Given the description of an element on the screen output the (x, y) to click on. 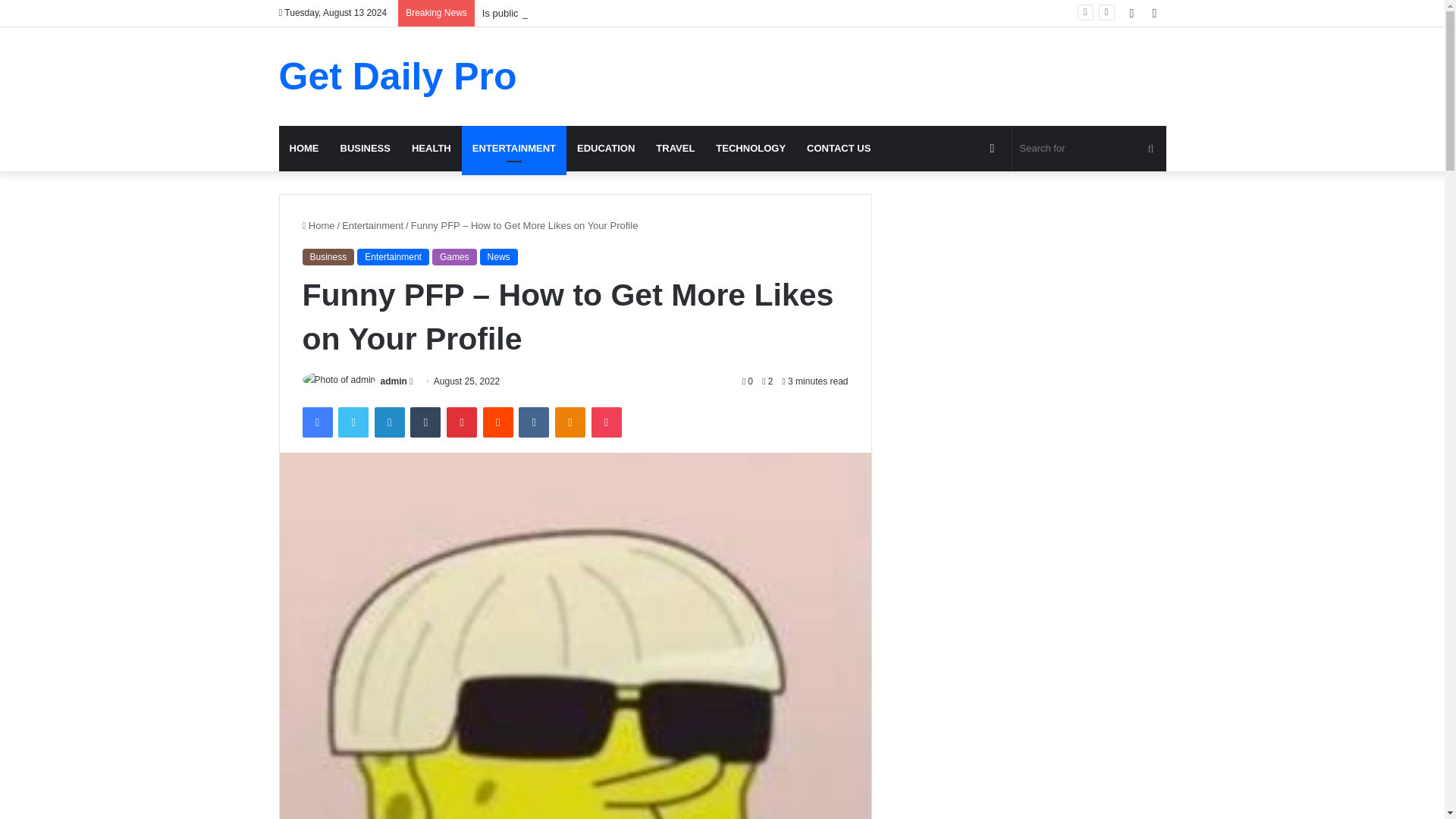
TRAVEL (674, 148)
Twitter (352, 422)
Odnoklassniki (569, 422)
Games (454, 256)
Reddit (498, 422)
LinkedIn (389, 422)
Get Daily Pro (397, 76)
LinkedIn (389, 422)
TECHNOLOGY (750, 148)
Pinterest (461, 422)
